Given the description of an element on the screen output the (x, y) to click on. 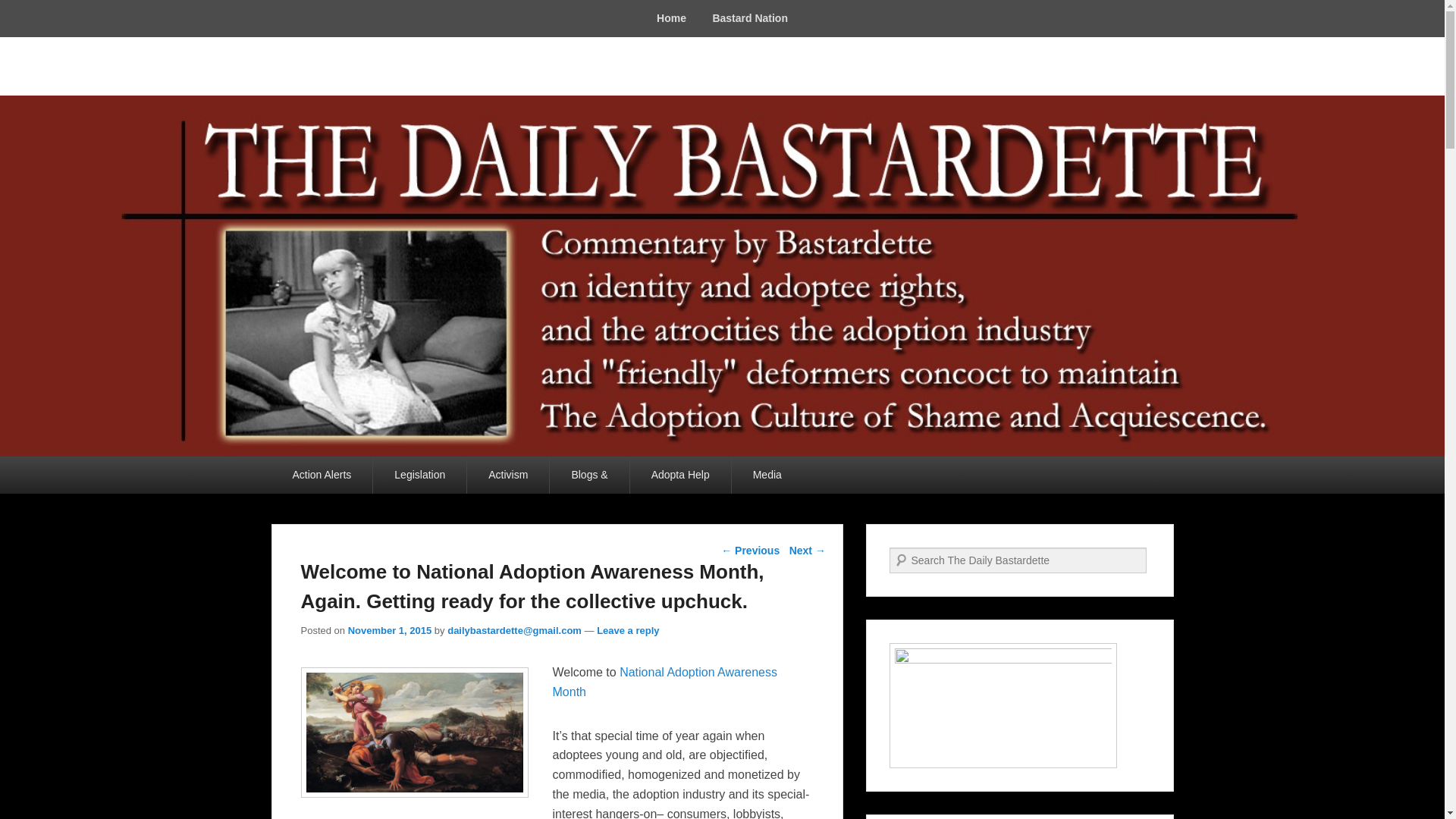
Legislation (418, 474)
Home (671, 18)
Bastard Nation (749, 18)
8:05 pm (389, 630)
Leave a reply (627, 630)
Adopta Help (680, 474)
National Adoption Awareness Month (663, 681)
November 1, 2015 (389, 630)
Action Alerts (321, 474)
Activism (507, 474)
